Given the description of an element on the screen output the (x, y) to click on. 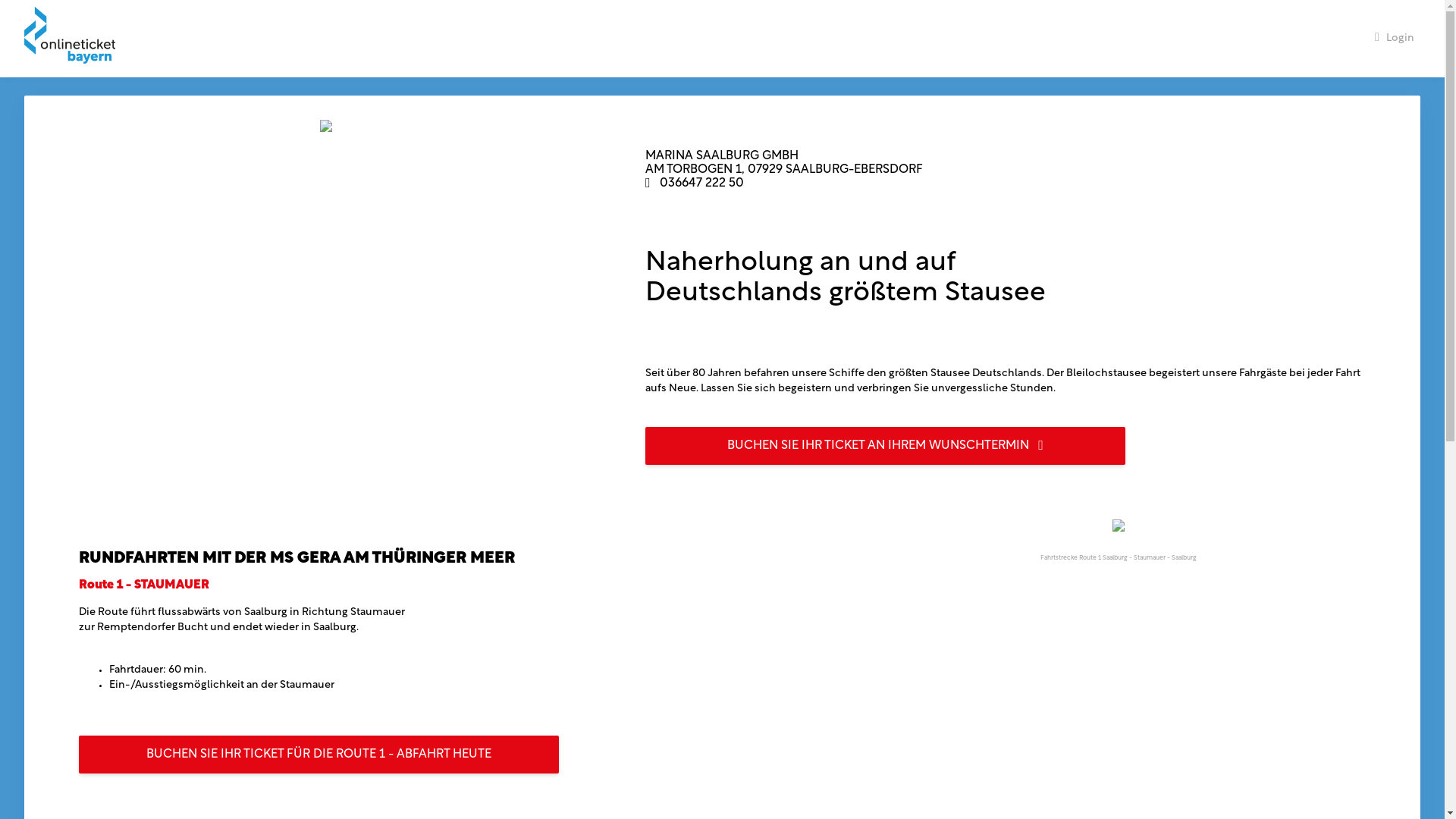
BUCHEN SIE IHR TICKET AN IHREM WUNSCHTERMIN Element type: text (885, 445)
Startseite | onlineticket.bayern Element type: hover (75, 38)
036647 222 50 Element type: text (701, 183)
  Login Element type: text (1394, 38)
